Given the description of an element on the screen output the (x, y) to click on. 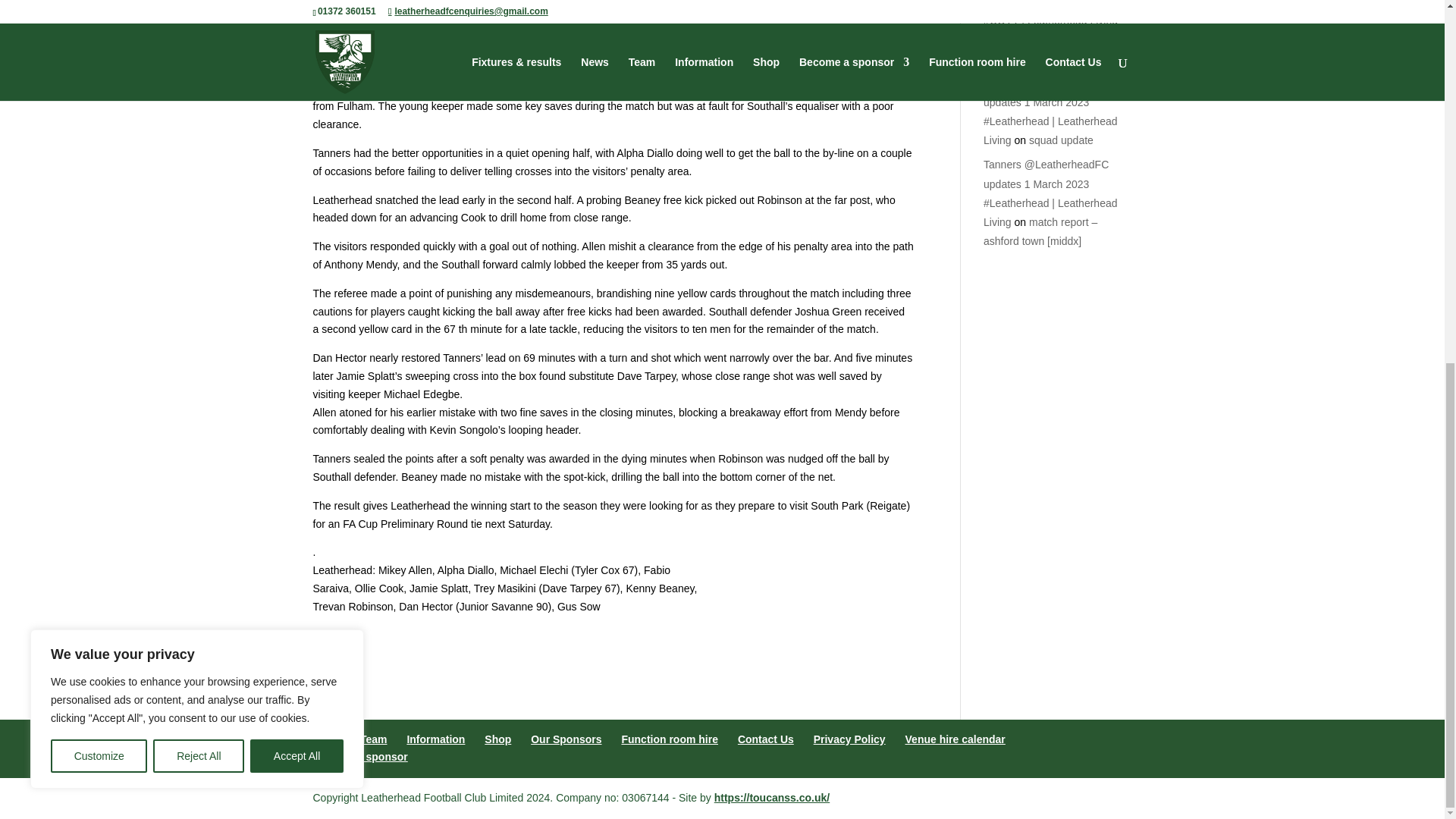
Accept All (296, 106)
Customize (98, 106)
Reject All (198, 106)
